Given the description of an element on the screen output the (x, y) to click on. 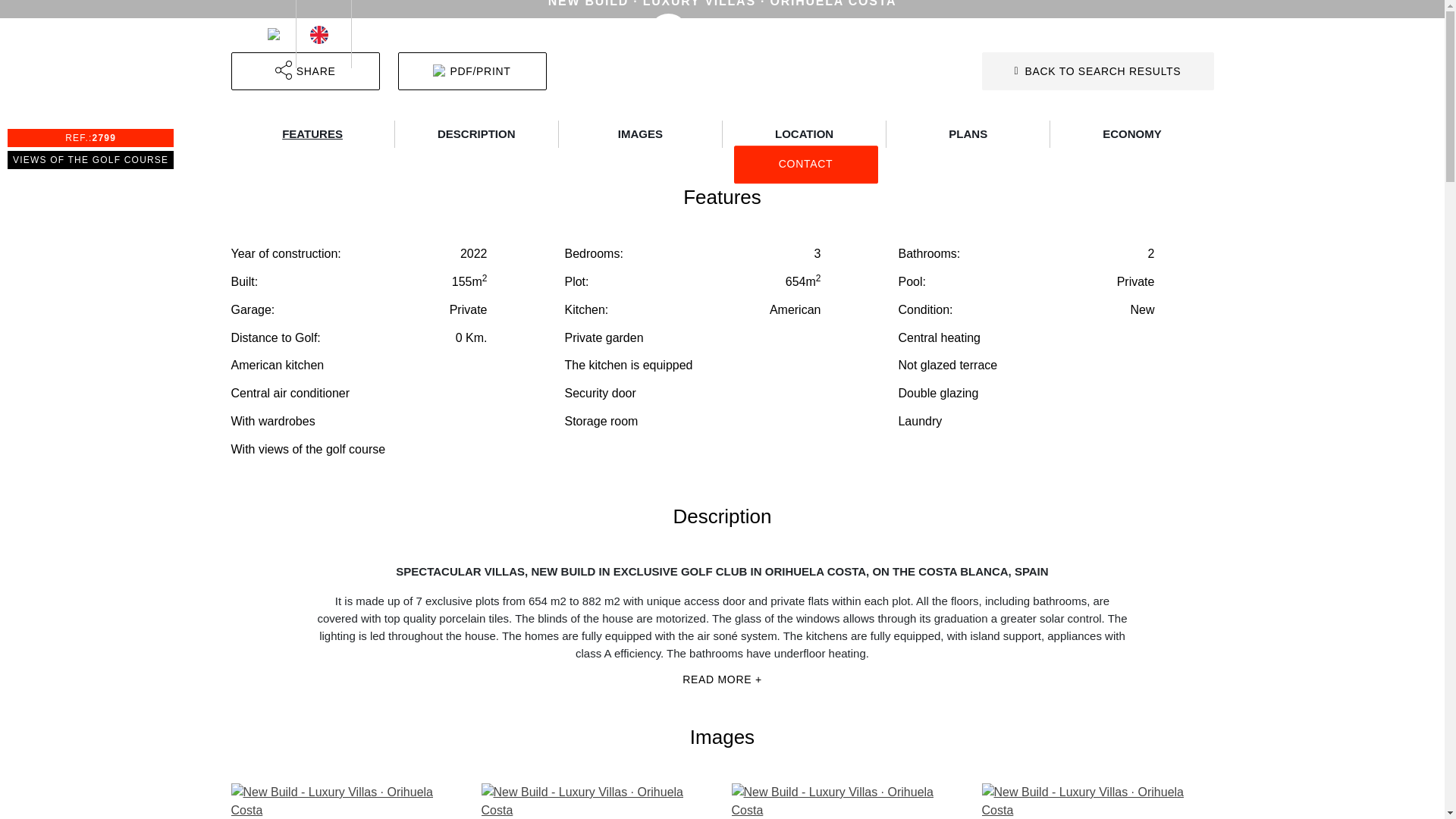
Contact (1194, 33)
CONTACT (721, 134)
Sell (805, 164)
Buy (1133, 33)
Home Target (1081, 33)
VIEW PHOTOS (712, 33)
Home (639, 164)
Login or register (1025, 33)
